Given the description of an element on the screen output the (x, y) to click on. 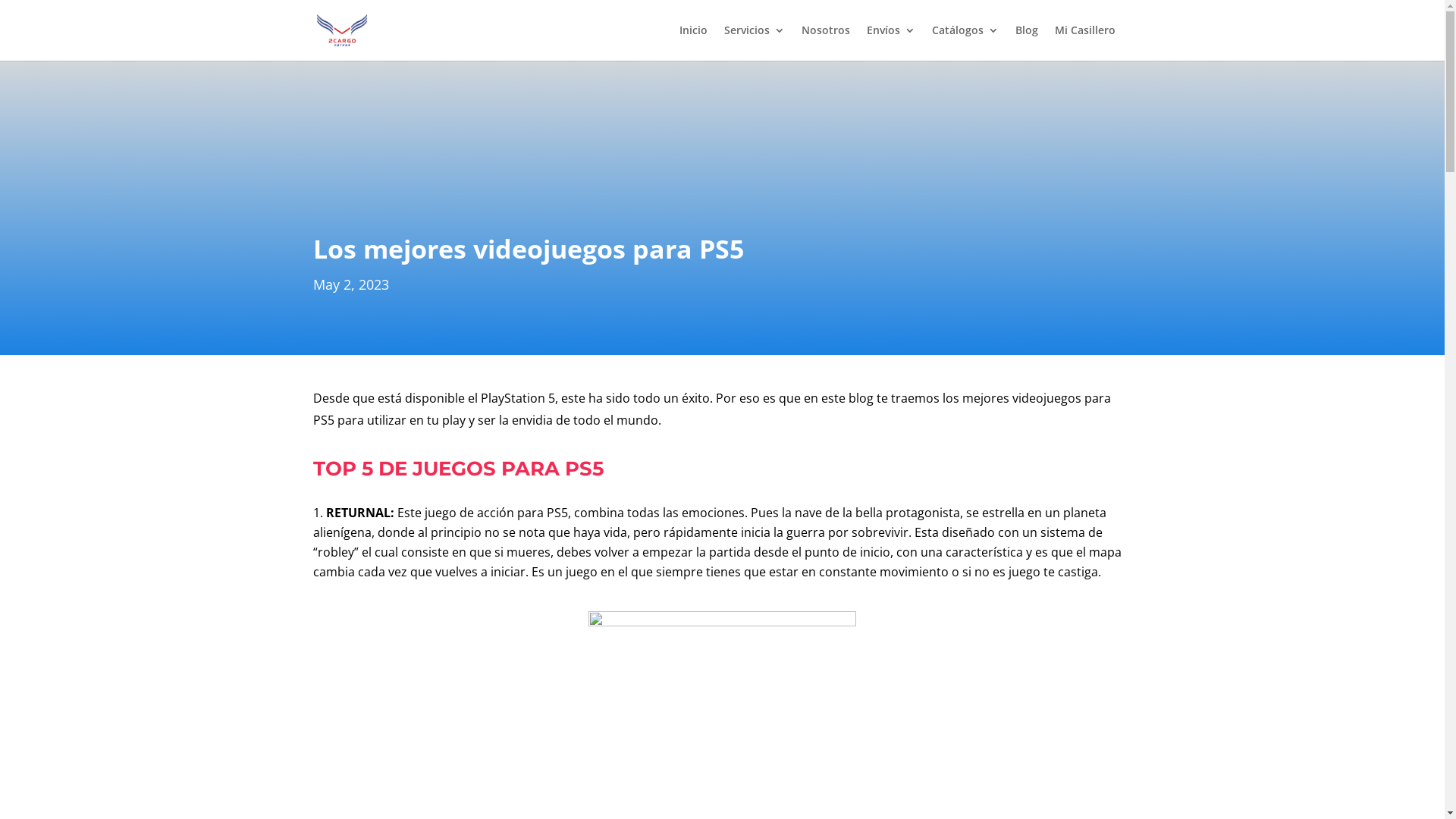
Servicios Element type: text (753, 42)
Mi Casillero Element type: text (1084, 42)
Nosotros Element type: text (824, 42)
Blog Element type: text (1025, 42)
Inicio Element type: text (693, 42)
